Given the description of an element on the screen output the (x, y) to click on. 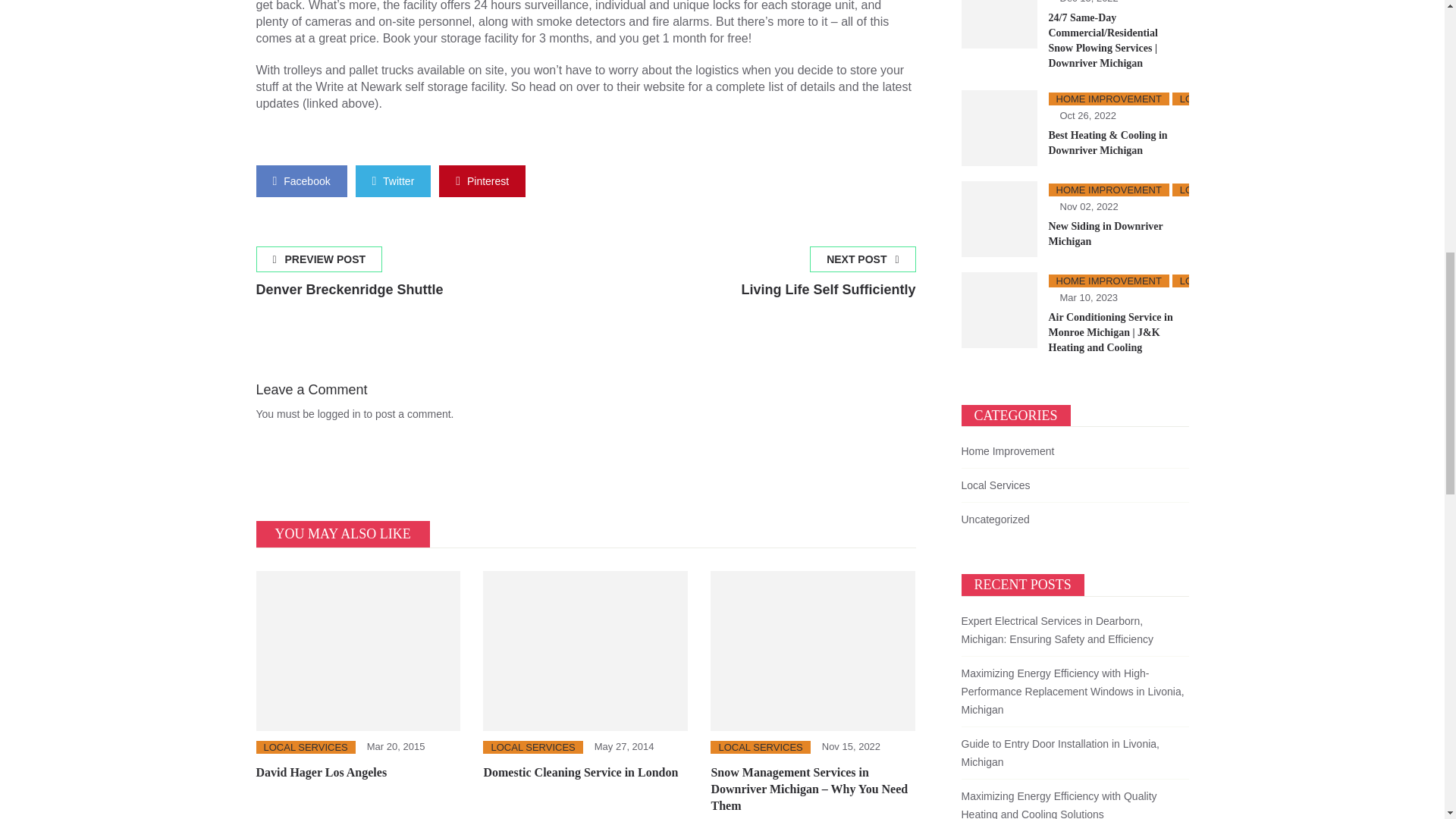
pinterest (481, 180)
next post (350, 278)
Facebook (828, 278)
Twitter (301, 180)
logged in (393, 180)
LOCAL SERVICES (828, 278)
LOCAL SERVICES (339, 413)
prev post (532, 747)
